Given the description of an element on the screen output the (x, y) to click on. 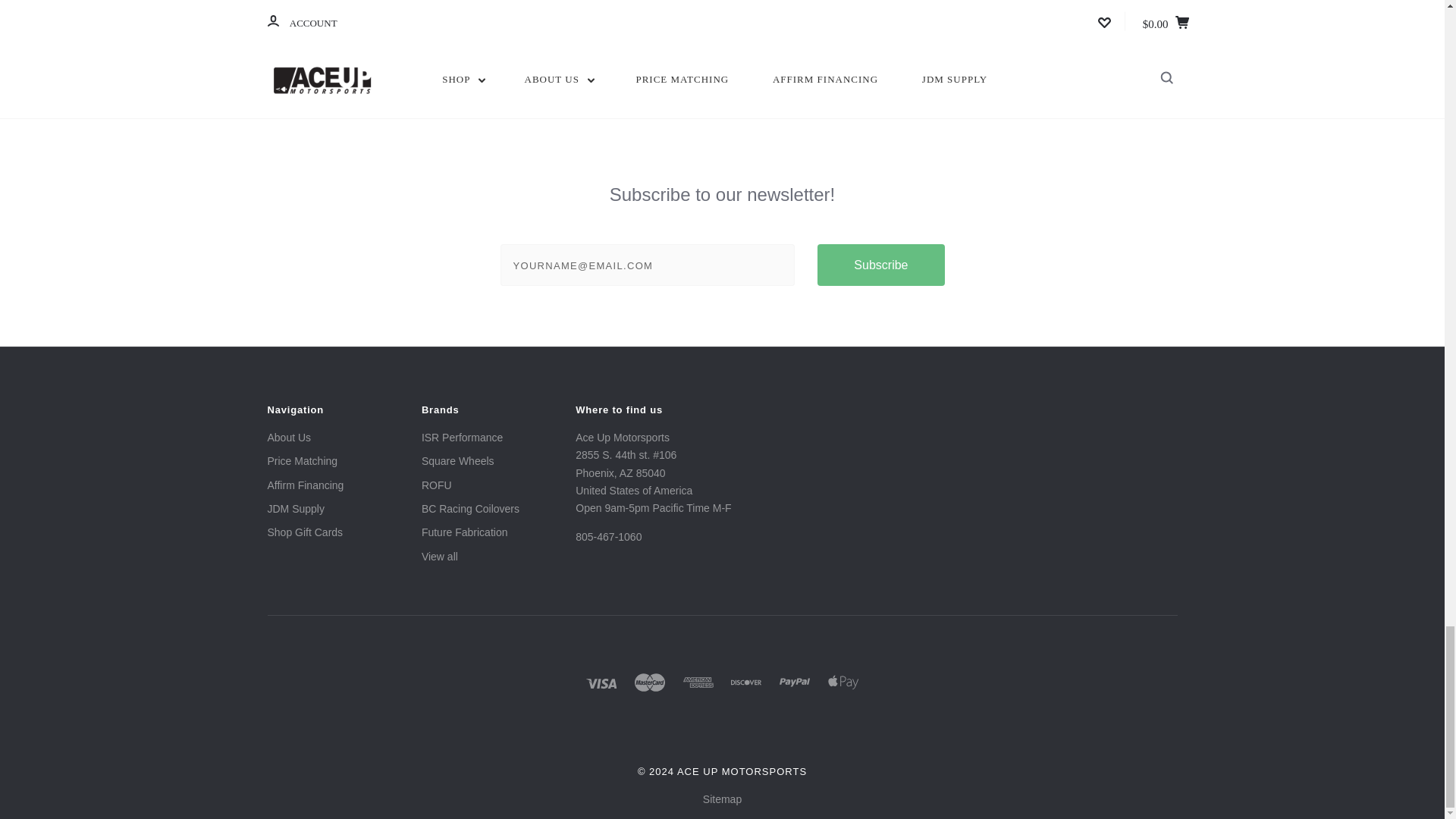
Subscribe (879, 264)
